Given the description of an element on the screen output the (x, y) to click on. 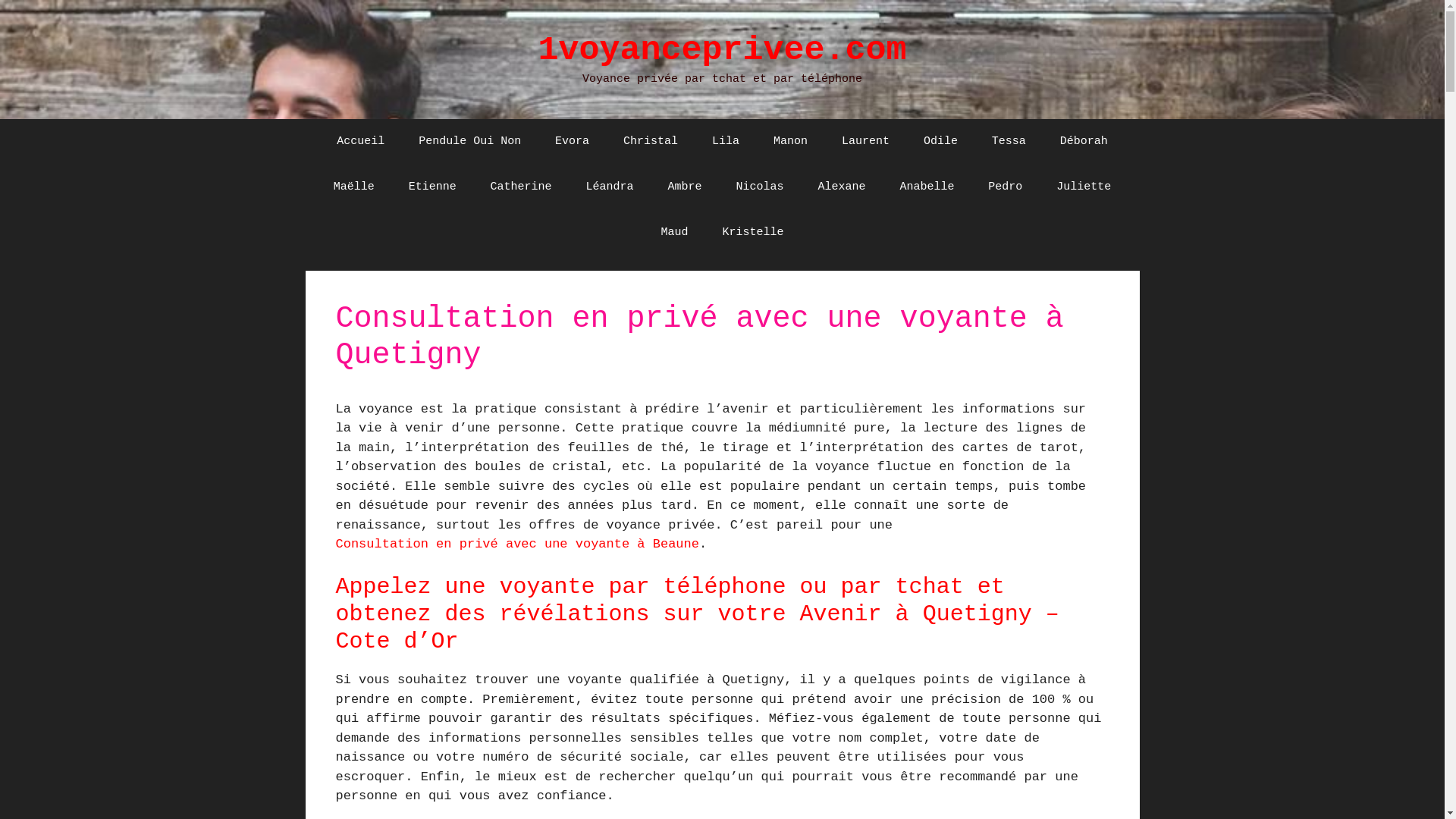
Tessa Element type: text (1008, 140)
Etienne Element type: text (432, 186)
Juliette Element type: text (1083, 186)
Maud Element type: text (674, 231)
Alexane Element type: text (841, 186)
Lila Element type: text (725, 140)
Nicolas Element type: text (759, 186)
Pedro Element type: text (1004, 186)
Kristelle Element type: text (752, 231)
Manon Element type: text (790, 140)
Evora Element type: text (571, 140)
Accueil Element type: text (360, 140)
Christal Element type: text (650, 140)
Ambre Element type: text (684, 186)
Laurent Element type: text (865, 140)
1voyanceprivee.com Element type: text (721, 50)
Anabelle Element type: text (926, 186)
Catherine Element type: text (521, 186)
Odile Element type: text (940, 140)
Pendule Oui Non Element type: text (469, 140)
